Given the description of an element on the screen output the (x, y) to click on. 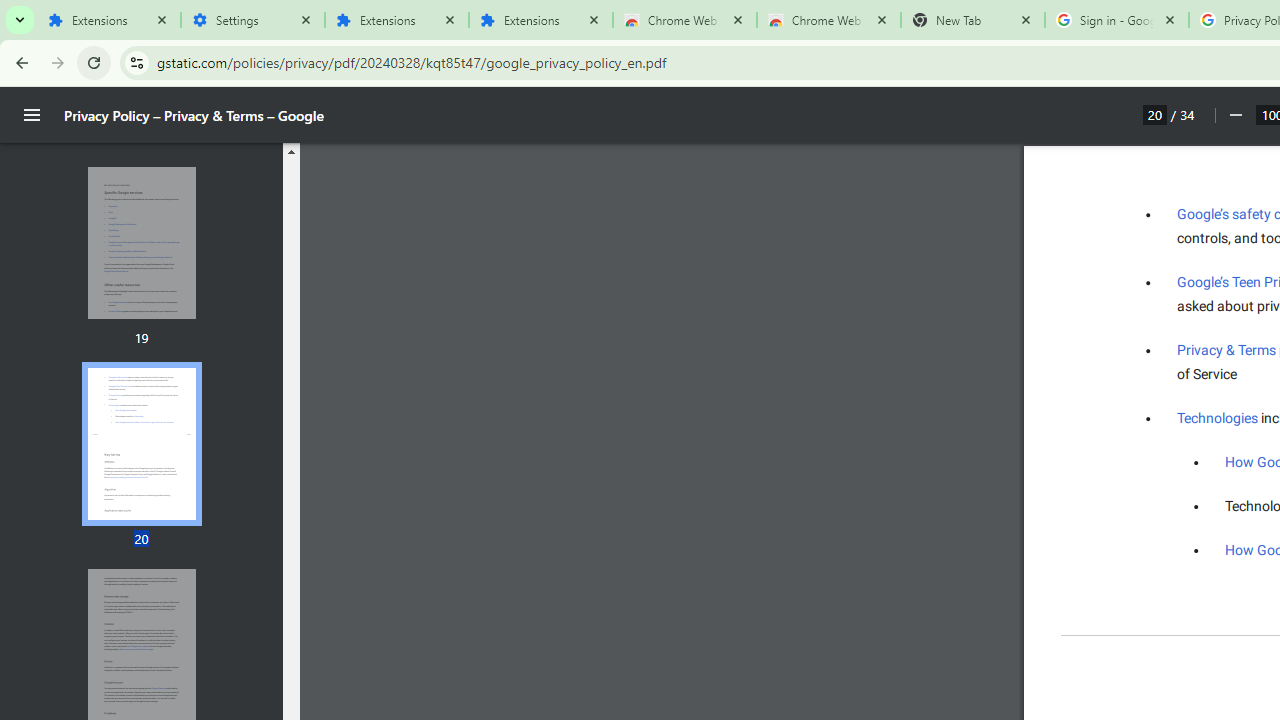
Extensions (396, 20)
Zoom out (1234, 115)
Extensions (540, 20)
Extensions (108, 20)
Sign in - Google Accounts (1116, 20)
Menu (31, 115)
